Given the description of an element on the screen output the (x, y) to click on. 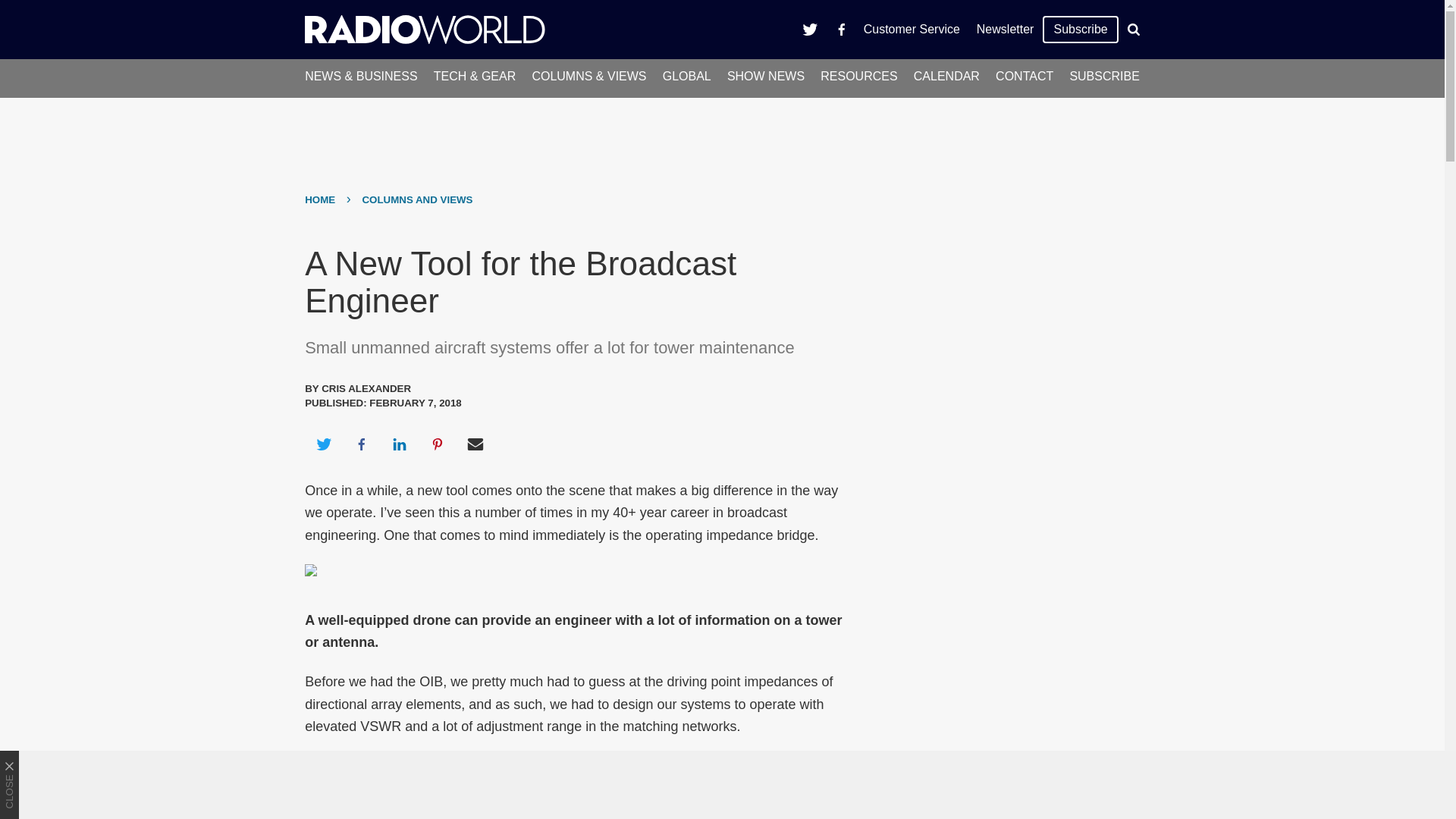
Share via Email (476, 444)
Customer Service (912, 29)
Share on Facebook (361, 444)
Share on LinkedIn (399, 444)
Share on Twitter (323, 444)
Share on Pinterest (438, 444)
